Given the description of an element on the screen output the (x, y) to click on. 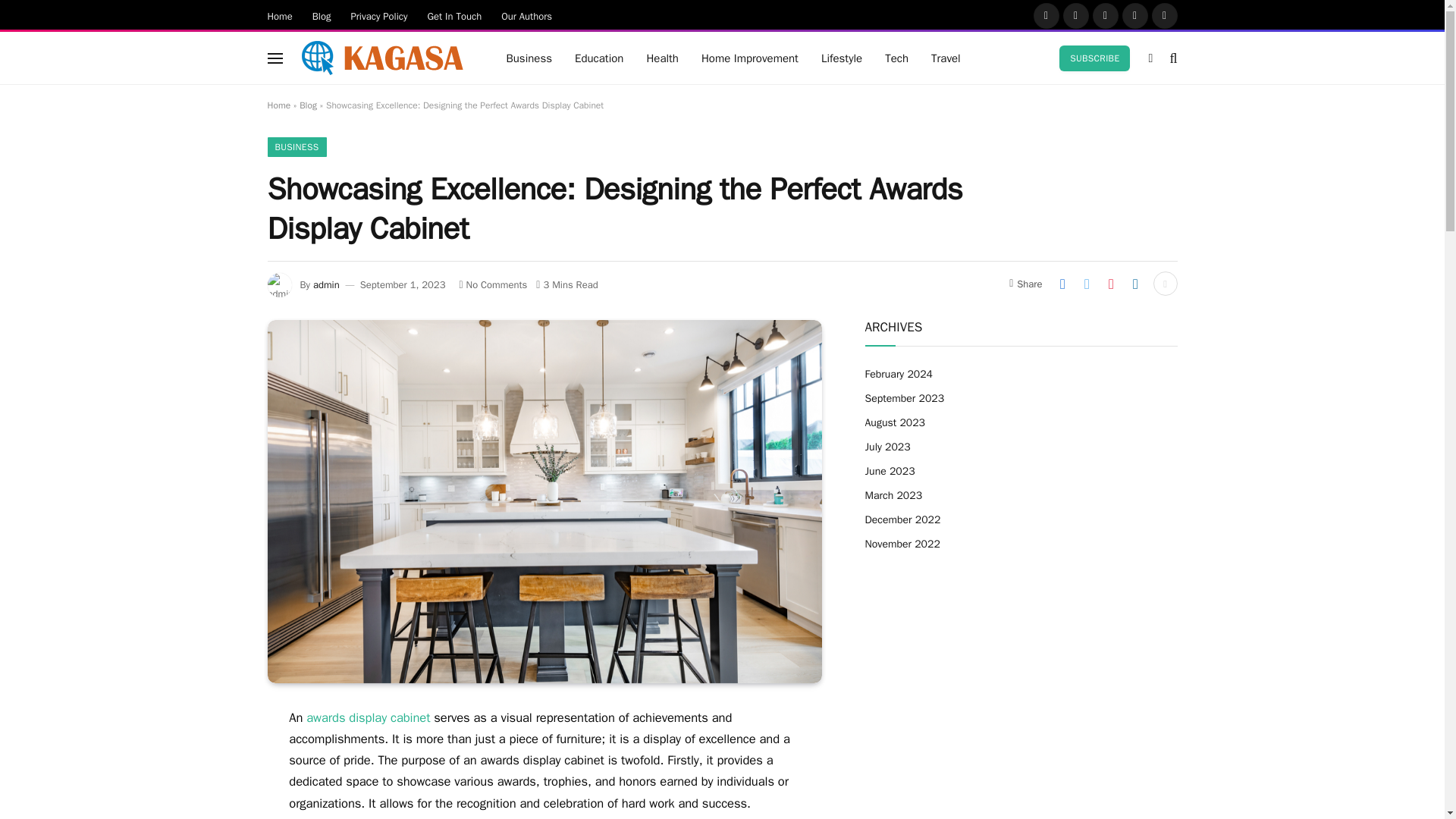
Share on Pinterest (1110, 283)
Education (598, 57)
Vimeo (1163, 15)
Privacy Policy (378, 15)
Kagasa (381, 57)
Pinterest (1135, 15)
Travel (946, 57)
Switch to Dark Design - easier on eyes. (1149, 57)
SUBSCRIBE (1094, 58)
Share on LinkedIn (1135, 283)
Home (279, 15)
Business (529, 57)
Health (662, 57)
Home Improvement (749, 57)
Blog (321, 15)
